Given the description of an element on the screen output the (x, y) to click on. 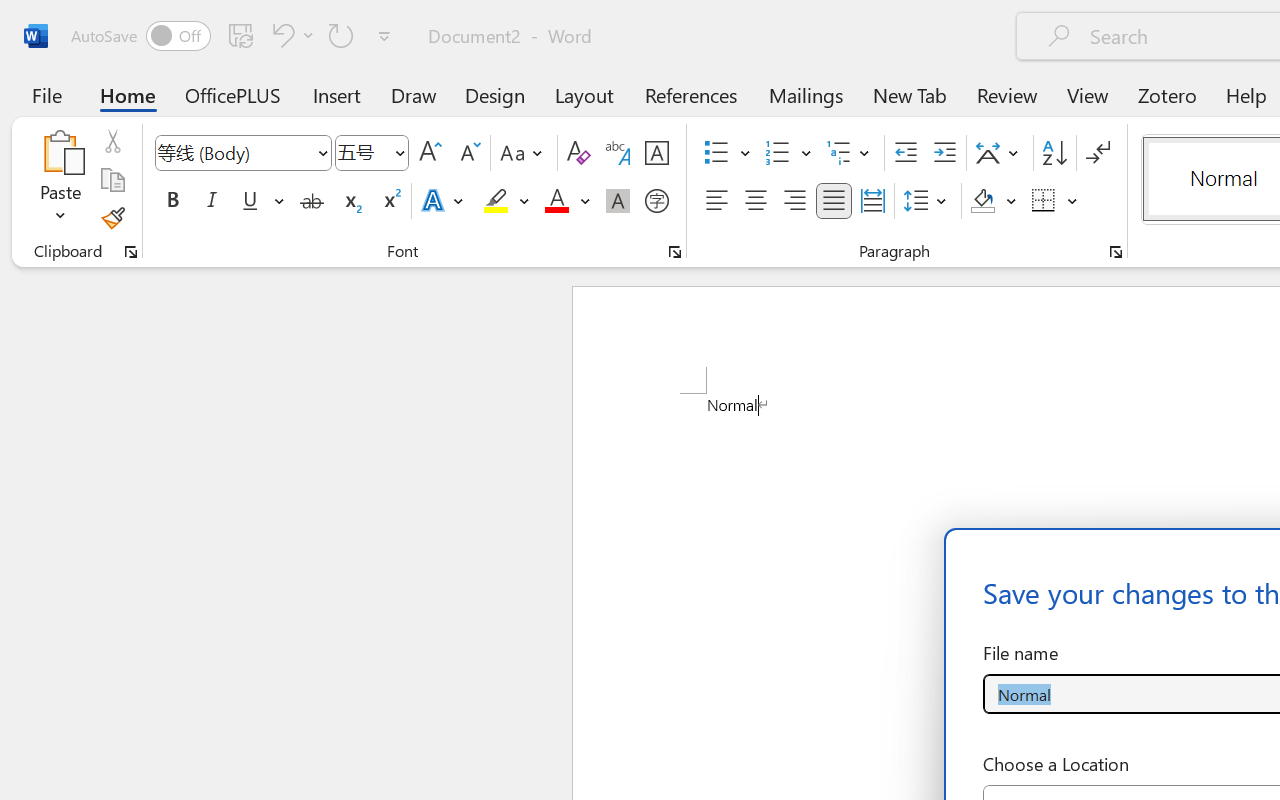
Font Size (372, 153)
Italic (212, 201)
Design (495, 94)
Text Highlight Color Yellow (495, 201)
Save (241, 35)
Bold (172, 201)
Line and Paragraph Spacing (927, 201)
Font Size (362, 152)
Character Border (656, 153)
Paste (60, 179)
Paste (60, 151)
Font Color (567, 201)
Sort... (1054, 153)
Quick Access Toolbar (233, 36)
Underline (261, 201)
